Given the description of an element on the screen output the (x, y) to click on. 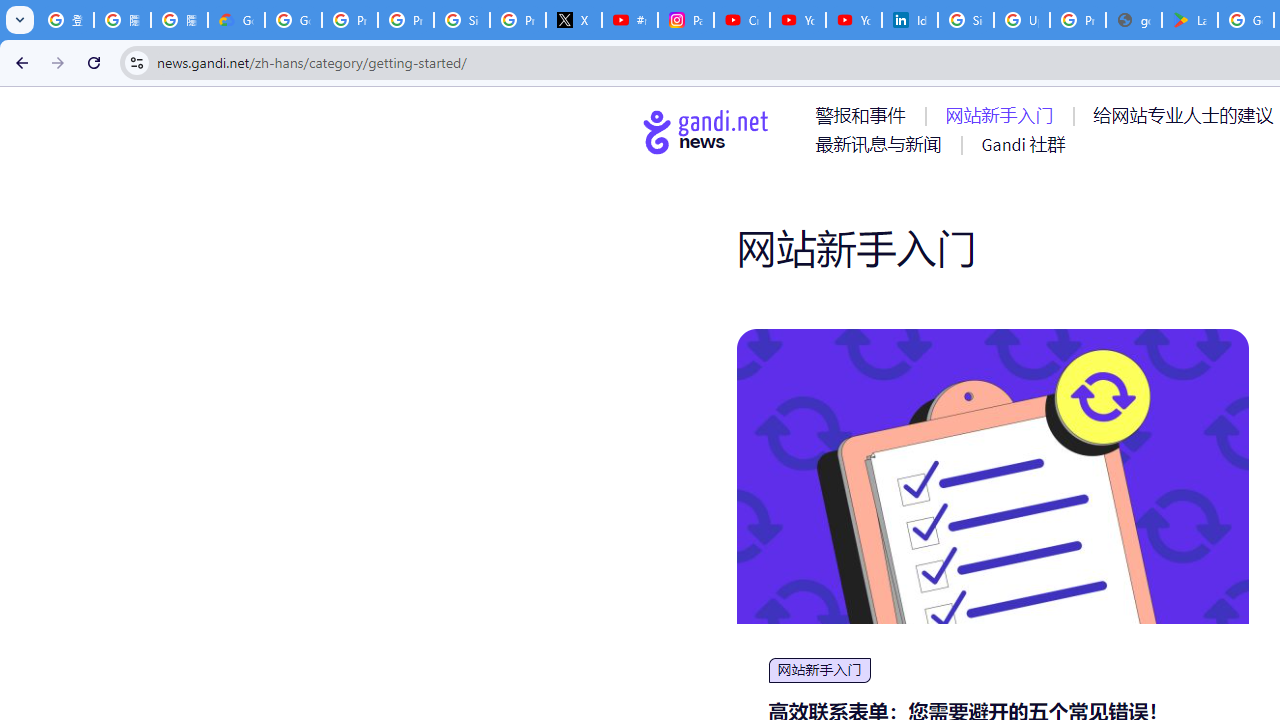
X (573, 20)
Google Cloud Privacy Notice (235, 20)
Go to home (706, 131)
